Given the description of an element on the screen output the (x, y) to click on. 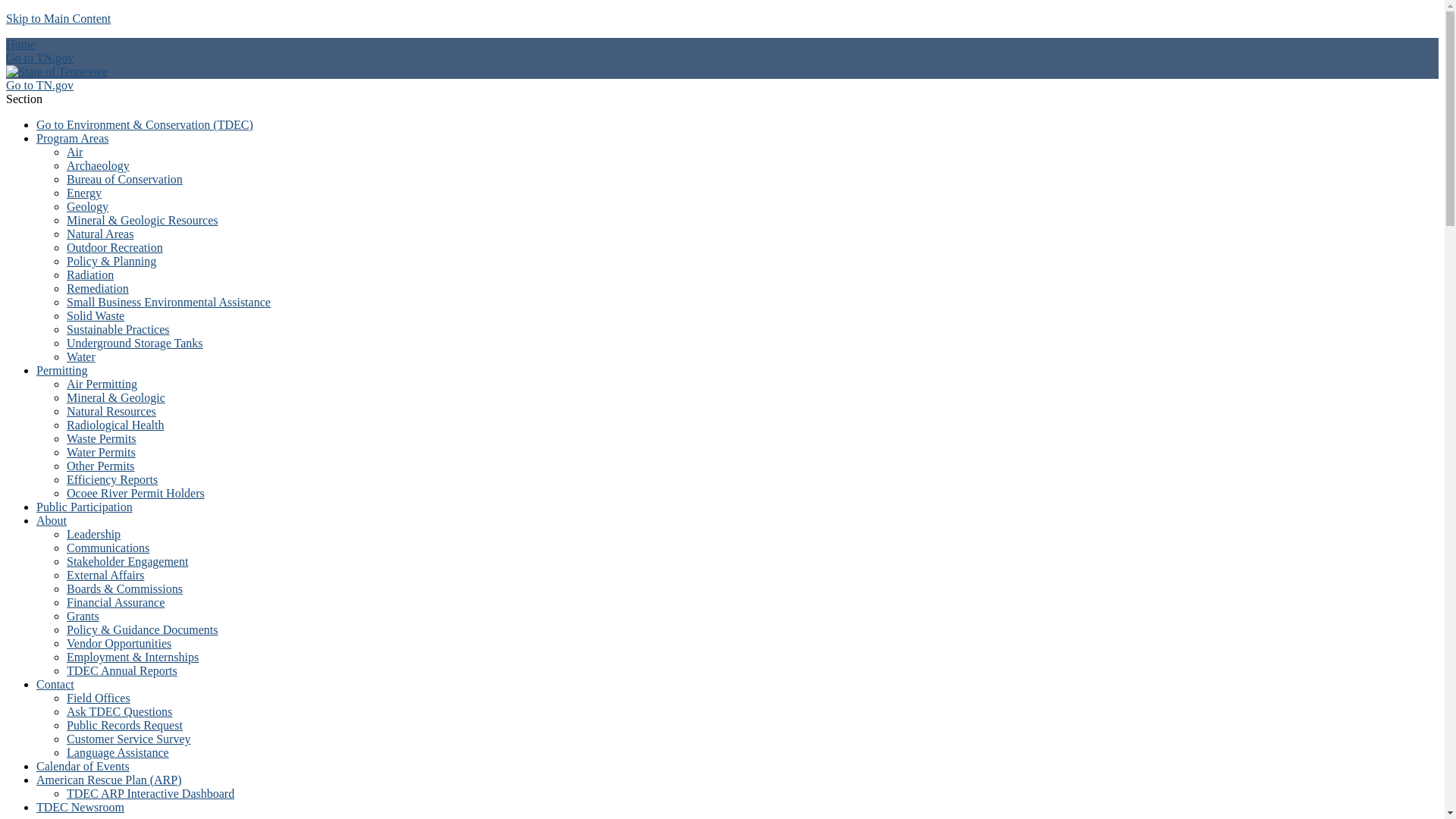
Public Participation (84, 506)
Air (74, 151)
Radiological Health (114, 424)
Bureau of Conservation (124, 178)
Air Permitting (101, 383)
Sustainable Practices (118, 328)
Permitting (61, 369)
Archaeology (97, 164)
Efficiency Reports (111, 479)
Solid Waste (94, 315)
